Given the description of an element on the screen output the (x, y) to click on. 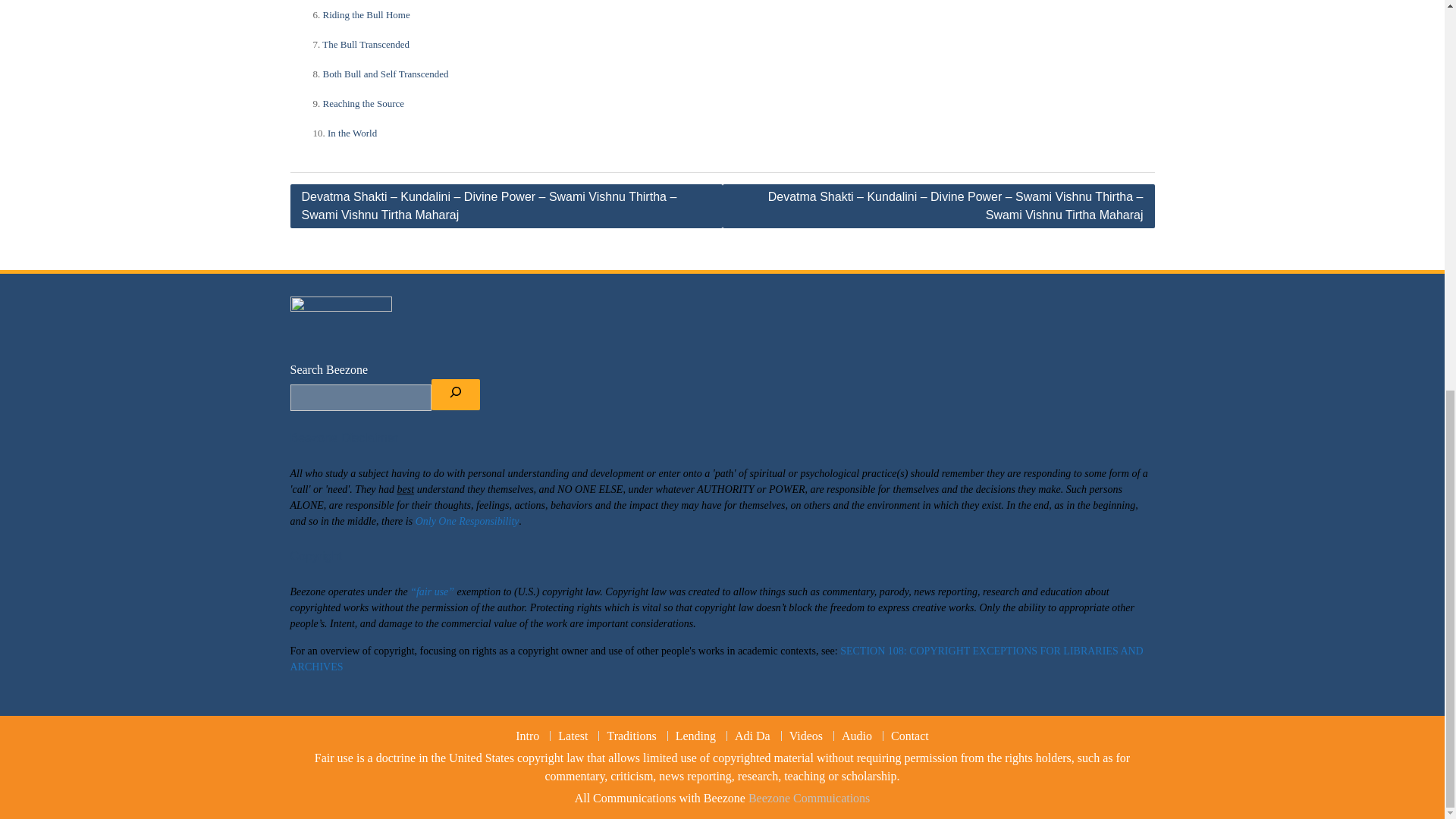
Contact (909, 736)
Adi Da (365, 42)
Beezone Commuications (751, 736)
Audio (366, 13)
Lending (808, 797)
Traditions (363, 102)
Intro (855, 736)
SECTION 108: COPYRIGHT EXCEPTIONS FOR LIBRARIES AND ARCHIVES (694, 736)
Only One Responsibility (630, 736)
Videos (385, 72)
